Given the description of an element on the screen output the (x, y) to click on. 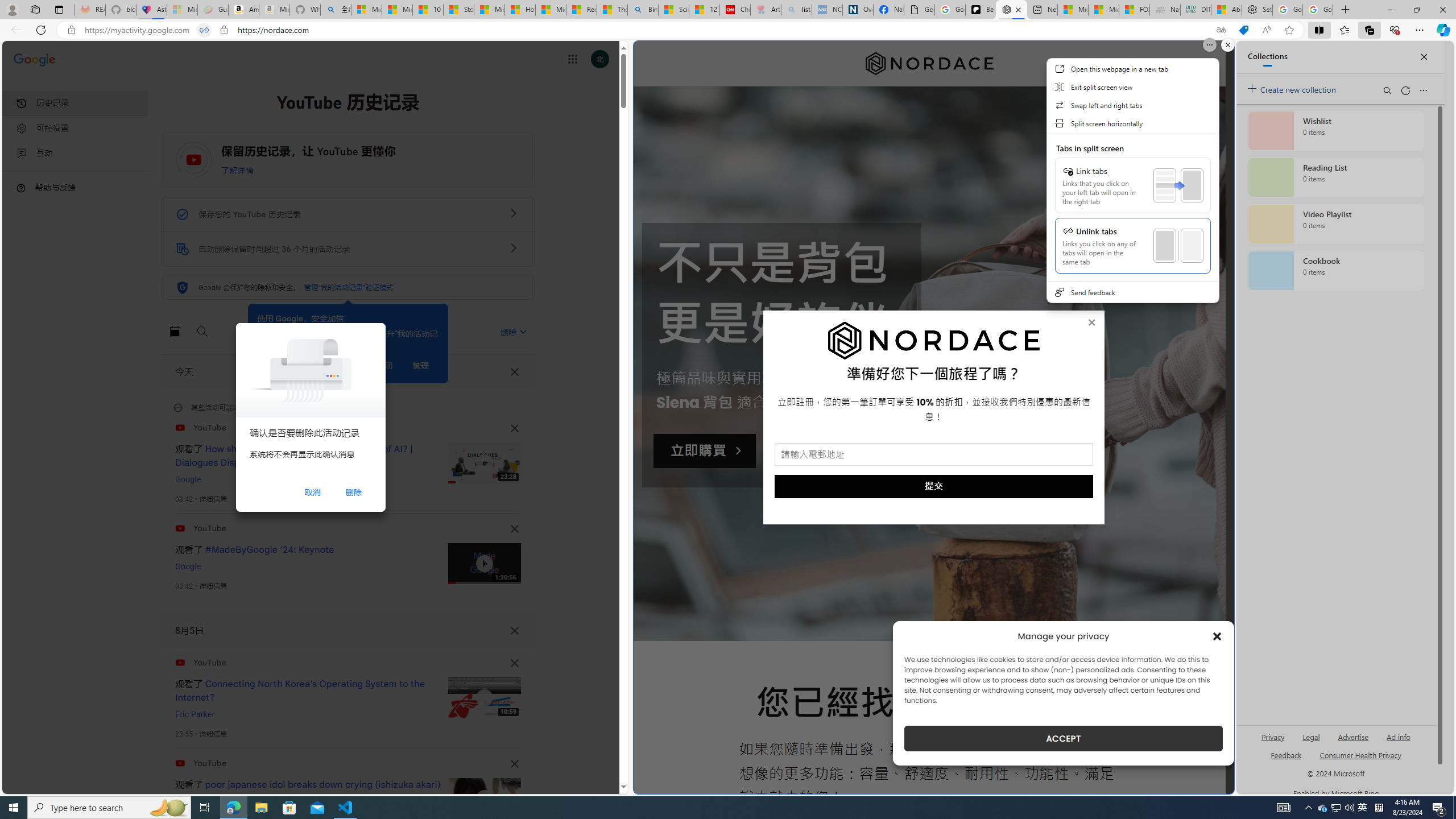
Send feedback (1132, 292)
More options. (1209, 45)
Be Smart | creating Science videos | Patreon (980, 9)
Nordace - Nordace Siena Is Not An Ordinary Backpack (1011, 9)
